Given the description of an element on the screen output the (x, y) to click on. 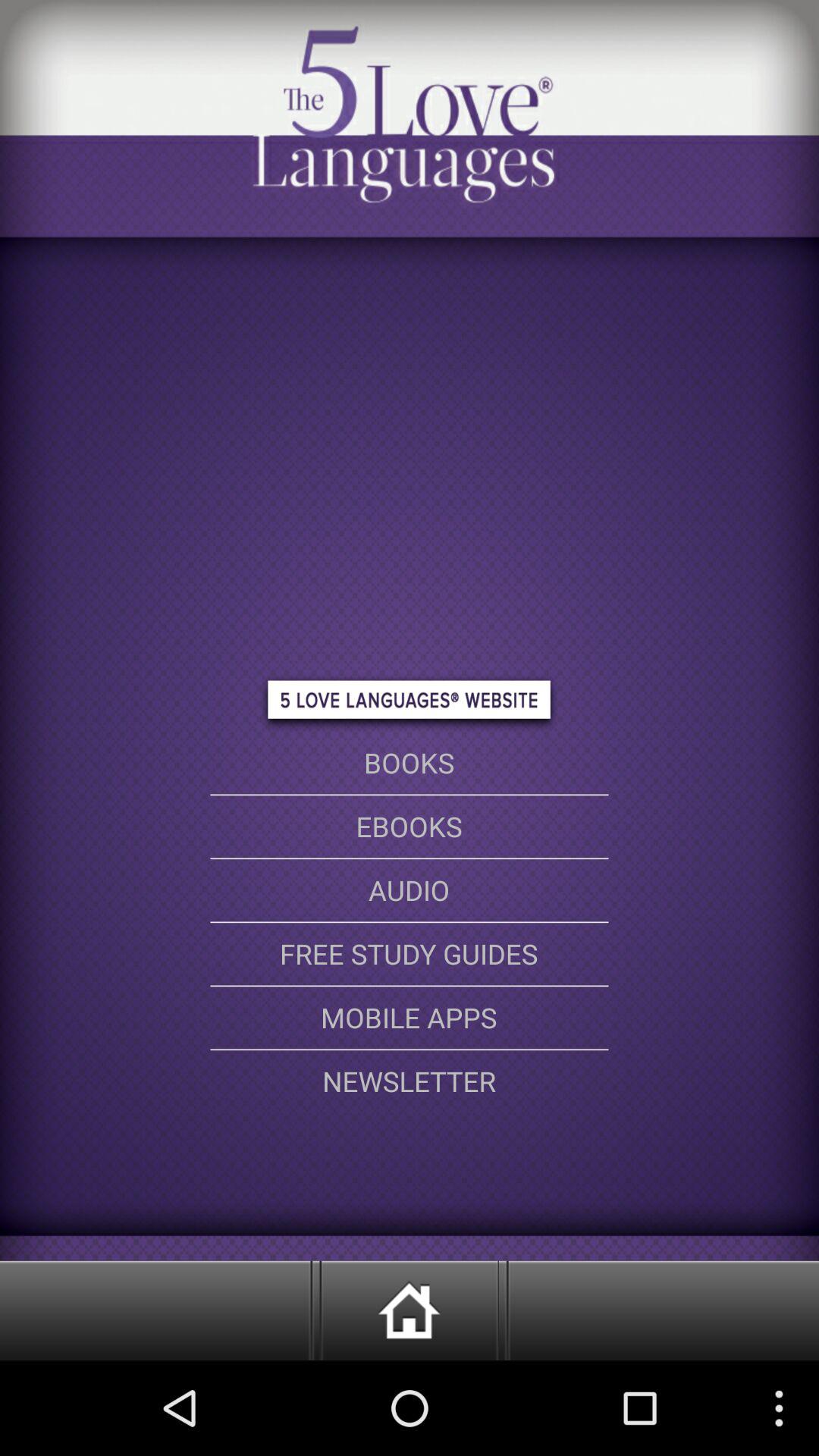
click on books (409, 763)
click on the newsletter option (409, 1081)
click on the button above book (409, 703)
click on the option above newsletter (409, 1018)
click on the option which is in between audio and mobile apps (409, 954)
